Given the description of an element on the screen output the (x, y) to click on. 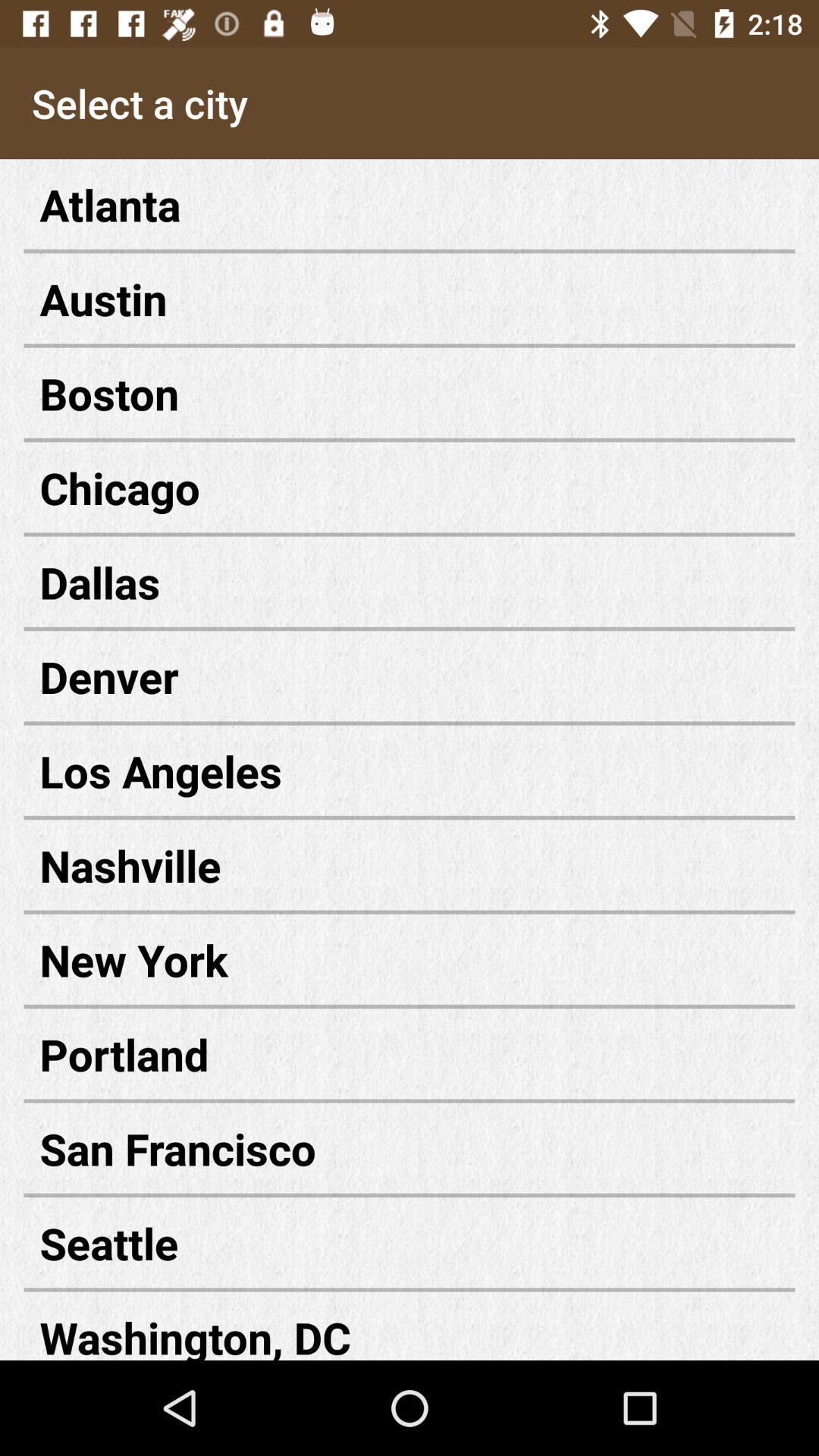
turn off the item below austin (409, 393)
